Given the description of an element on the screen output the (x, y) to click on. 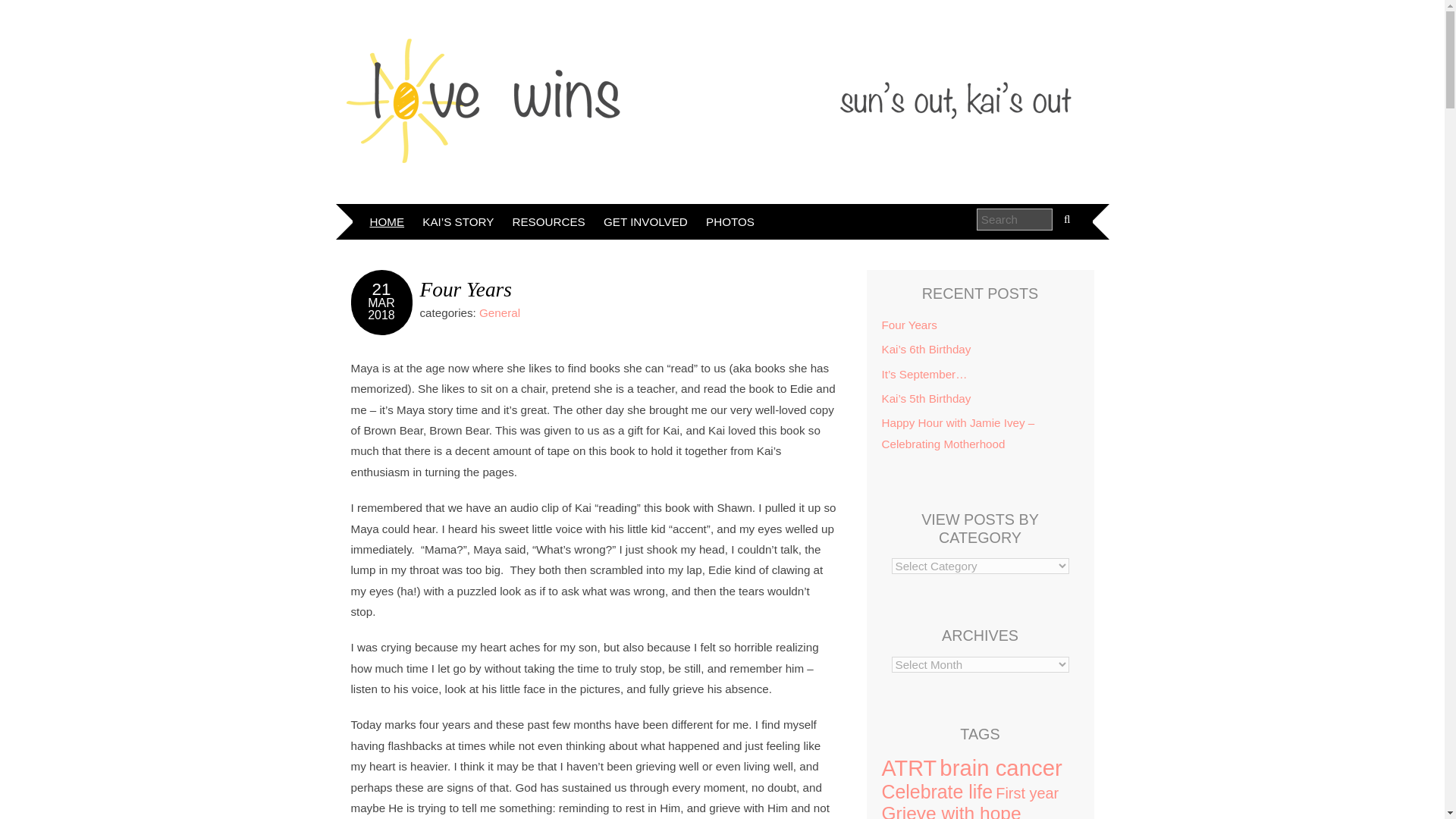
General (499, 312)
GET INVOLVED (645, 221)
Four Years (466, 289)
Sun's out, Kai's Out (714, 100)
21 (381, 289)
HOME (387, 221)
PHOTOS (729, 221)
RESOURCES (548, 221)
